Given the description of an element on the screen output the (x, y) to click on. 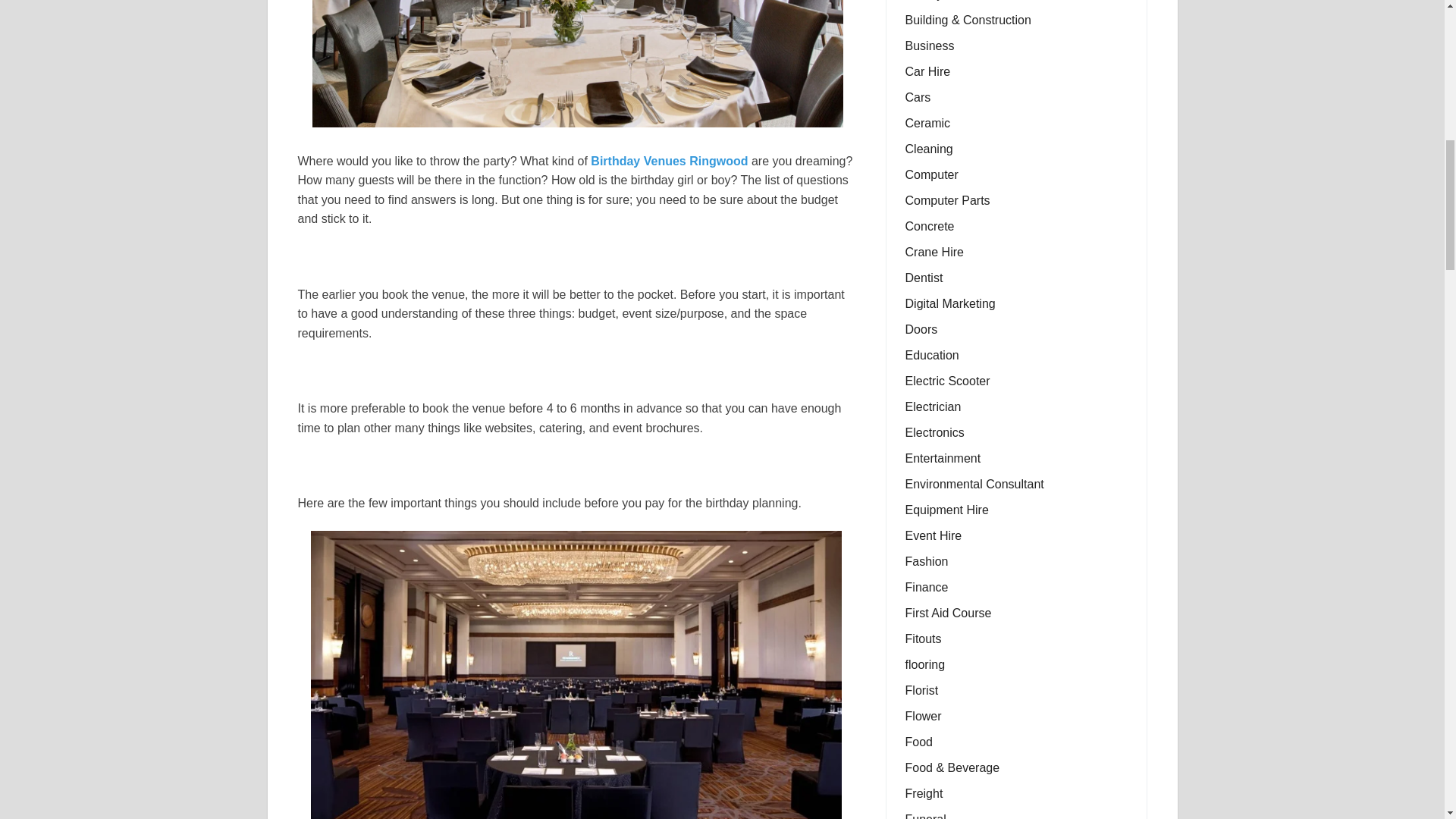
Birthday Venues Ringwood (669, 160)
Birthday Venues Ringwood (669, 160)
Birthday Venues Eastern Suburbs (578, 63)
